Given the description of an element on the screen output the (x, y) to click on. 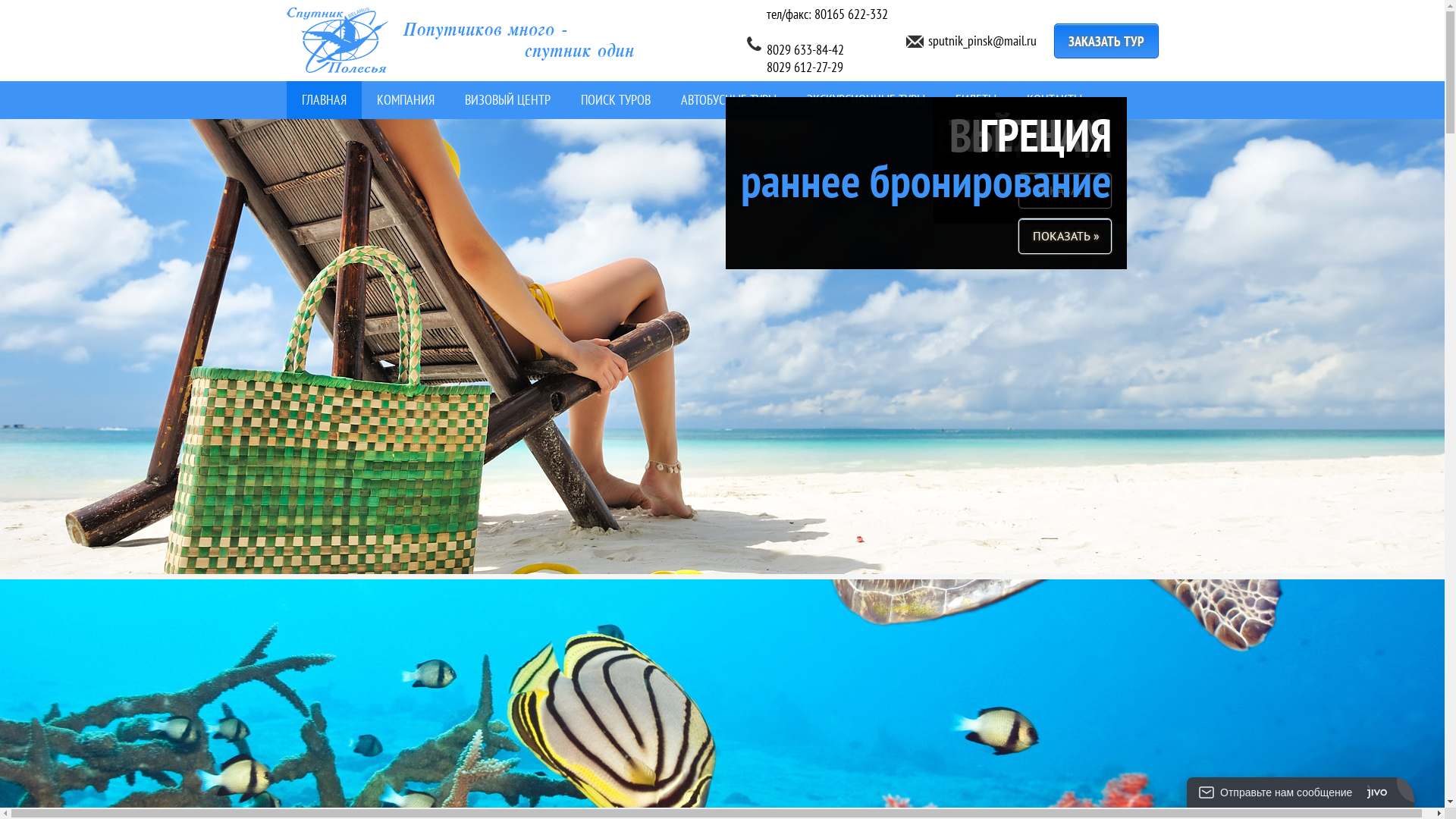
sputnik_pinsk@mail.ru Element type: text (982, 40)
